Given the description of an element on the screen output the (x, y) to click on. 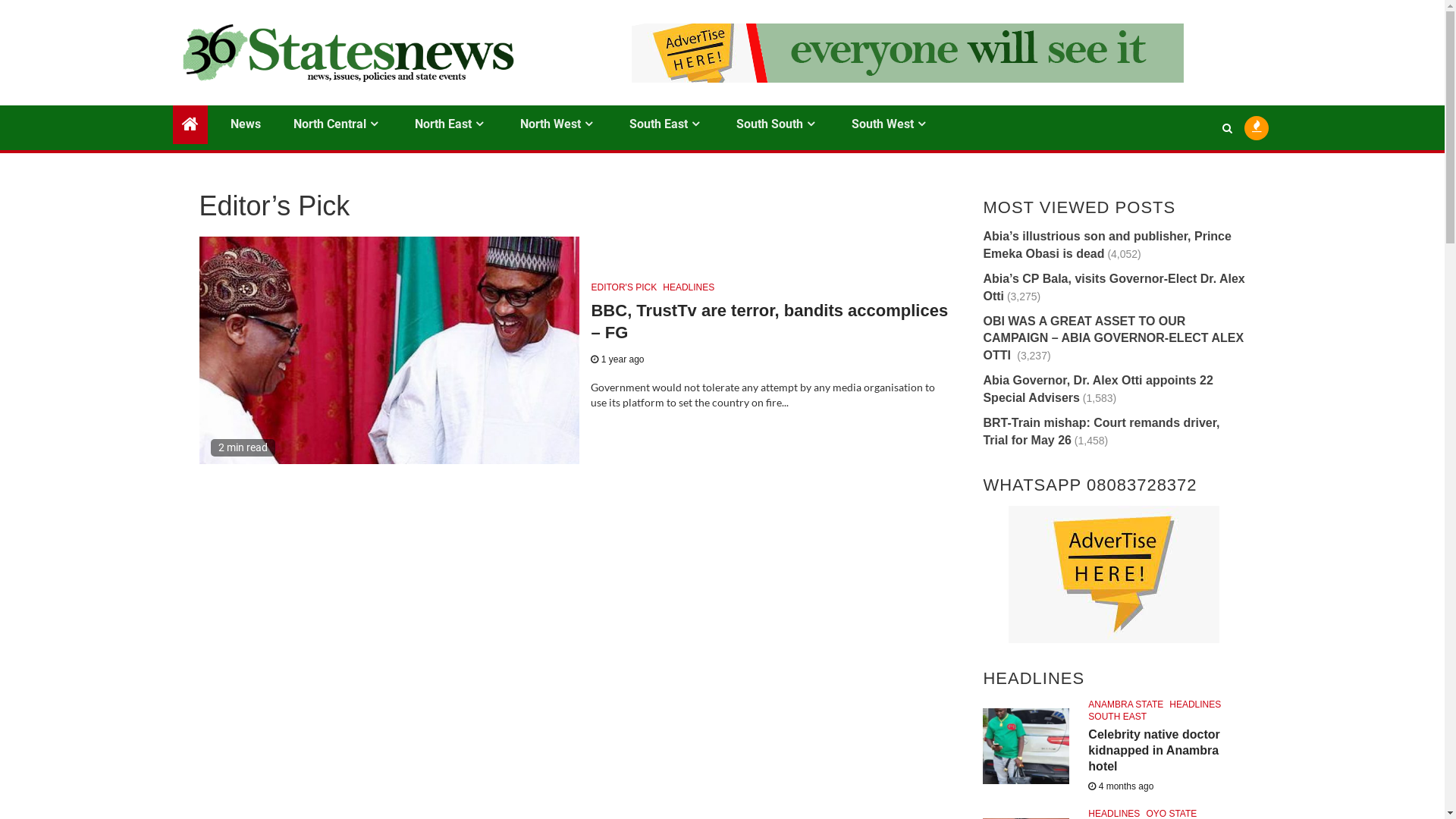
ANAMBRA STATE Element type: text (1125, 704)
News Element type: text (245, 123)
Celebrity native doctor kidnapped in Anambra hotel Element type: text (1153, 750)
South South Element type: text (777, 123)
North East Element type: text (450, 123)
Abia Governor, Dr. Alex Otti appoints 22 Special Advisers Element type: text (1097, 388)
BRT-Train mishap: Court remands driver, Trial for May 26 Element type: text (1100, 431)
HEADLINES Element type: text (688, 287)
Search Element type: text (1197, 173)
South West Element type: text (889, 123)
North Central Element type: text (337, 123)
EDITOR'S PICK Element type: text (623, 287)
HEADLINES Element type: text (1194, 704)
North West Element type: text (558, 123)
South East Element type: text (665, 123)
SOUTH EAST Element type: text (1117, 716)
Search Element type: hover (1226, 127)
